Given the description of an element on the screen output the (x, y) to click on. 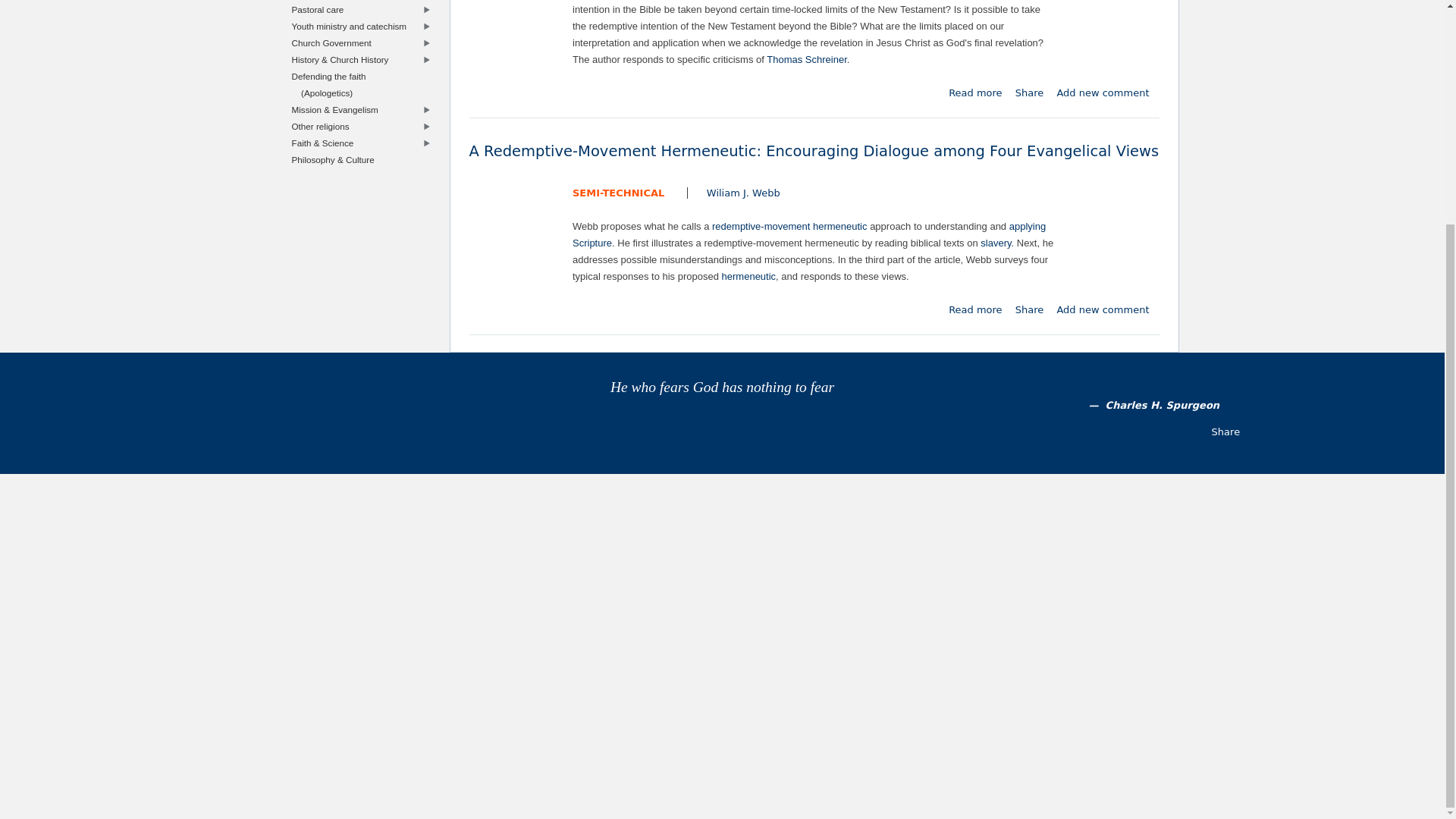
SEMI-TECHNICAL (617, 193)
Add new comment (1102, 92)
Thomas Schreiner (807, 59)
applying Scripture (808, 234)
Wiliam J. Webb (743, 193)
Add a new comment to this page. (1102, 92)
Add new comment (1102, 309)
Share (1028, 92)
hermeneutic (749, 276)
Add a new comment to this page. (1102, 309)
Share (1028, 309)
slavery (994, 242)
redemptive-movement hermeneutic (788, 225)
